Given the description of an element on the screen output the (x, y) to click on. 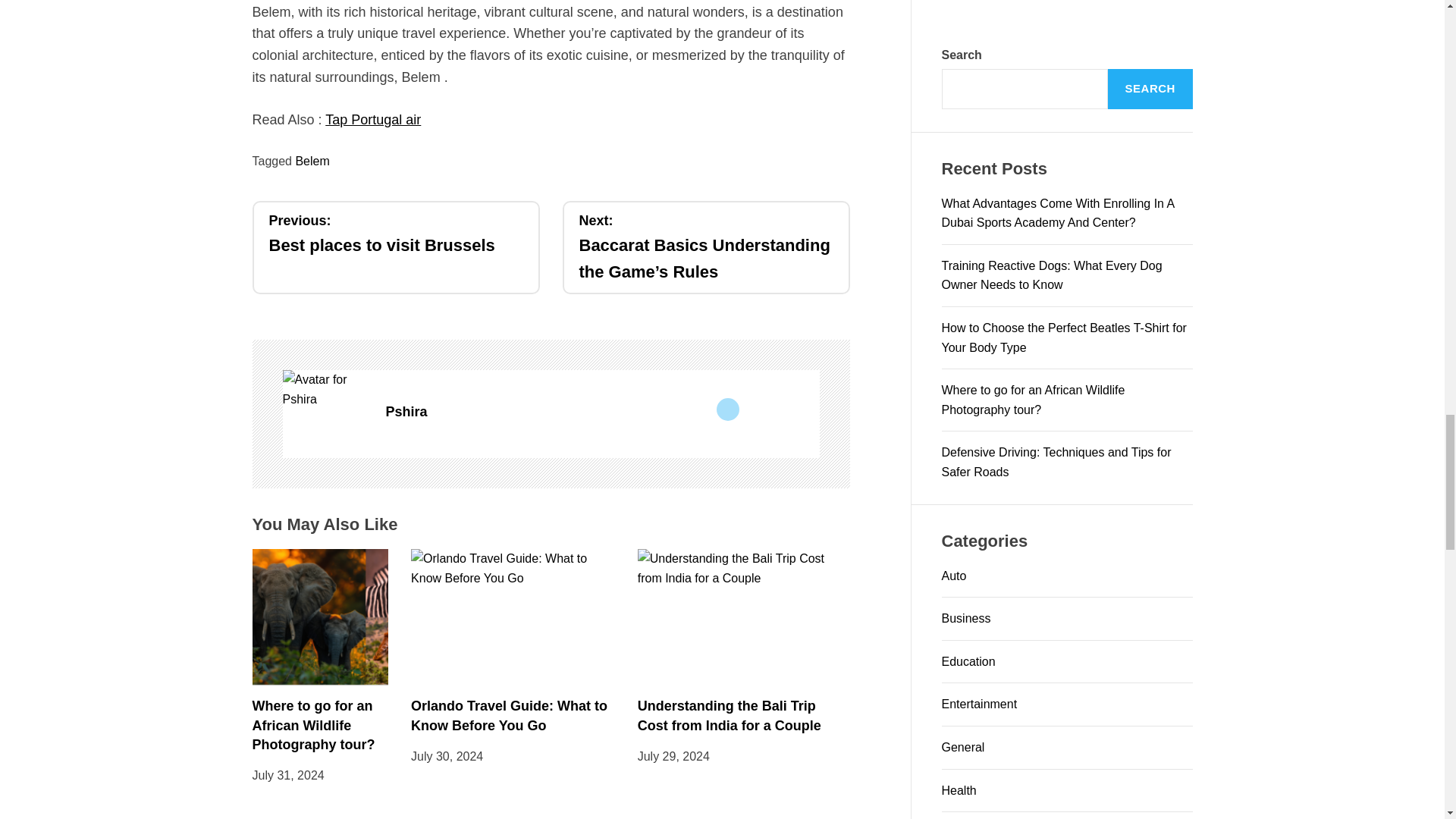
Pshira (601, 412)
Pshira (325, 389)
Tap Portugal air (394, 233)
Belem (372, 119)
